Given the description of an element on the screen output the (x, y) to click on. 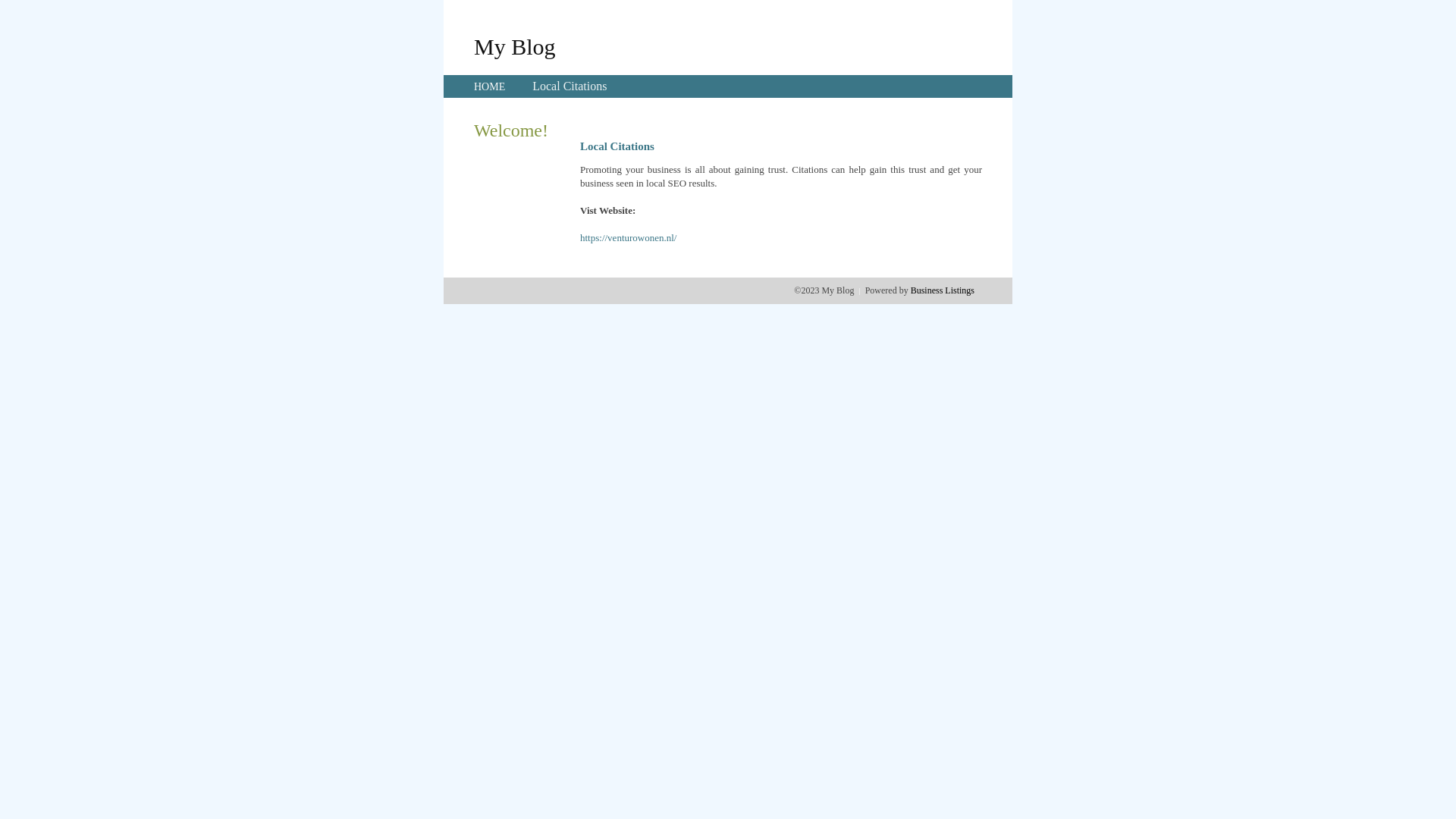
https://venturowonen.nl/ Element type: text (628, 237)
My Blog Element type: text (514, 46)
Local Citations Element type: text (569, 85)
Business Listings Element type: text (942, 290)
HOME Element type: text (489, 86)
